Given the description of an element on the screen output the (x, y) to click on. 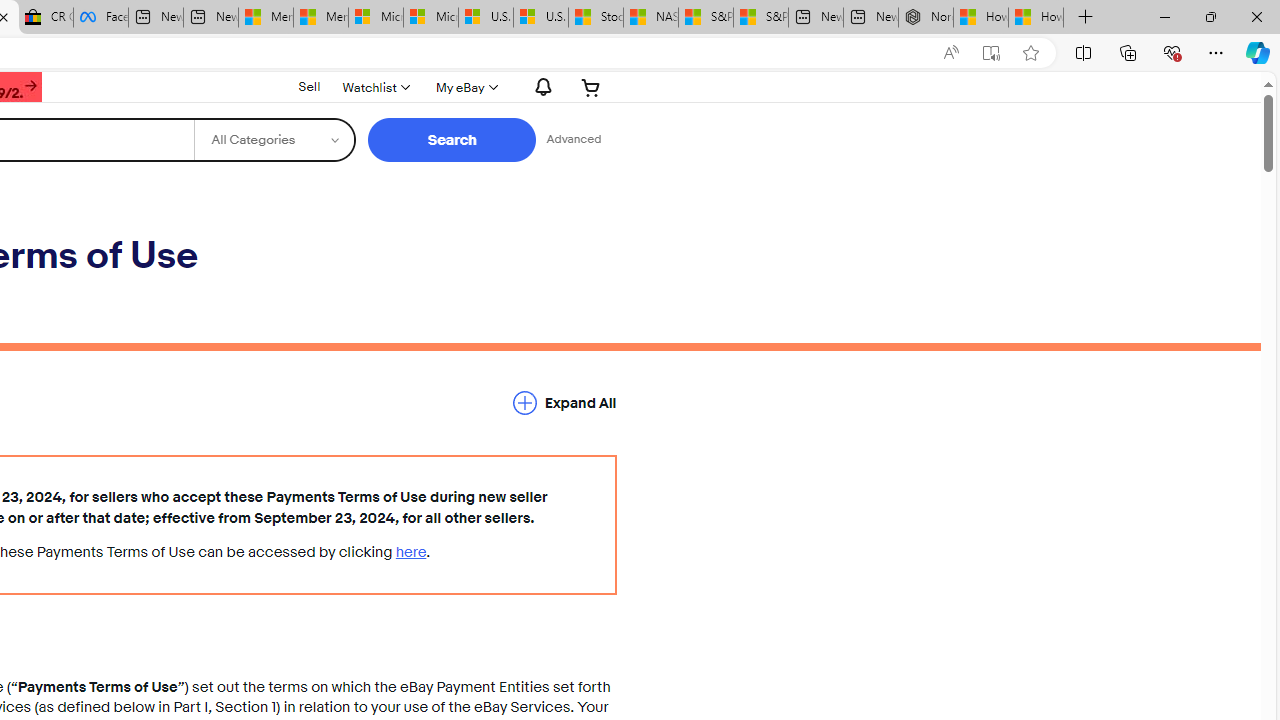
Advanced Search (573, 139)
AutomationID: gh-eb-Alerts (540, 87)
Enter Immersive Reader (F9) (991, 53)
Sell (308, 86)
My eBay (464, 87)
My eBayExpand My eBay (464, 87)
Your shopping cart (591, 87)
